Given the description of an element on the screen output the (x, y) to click on. 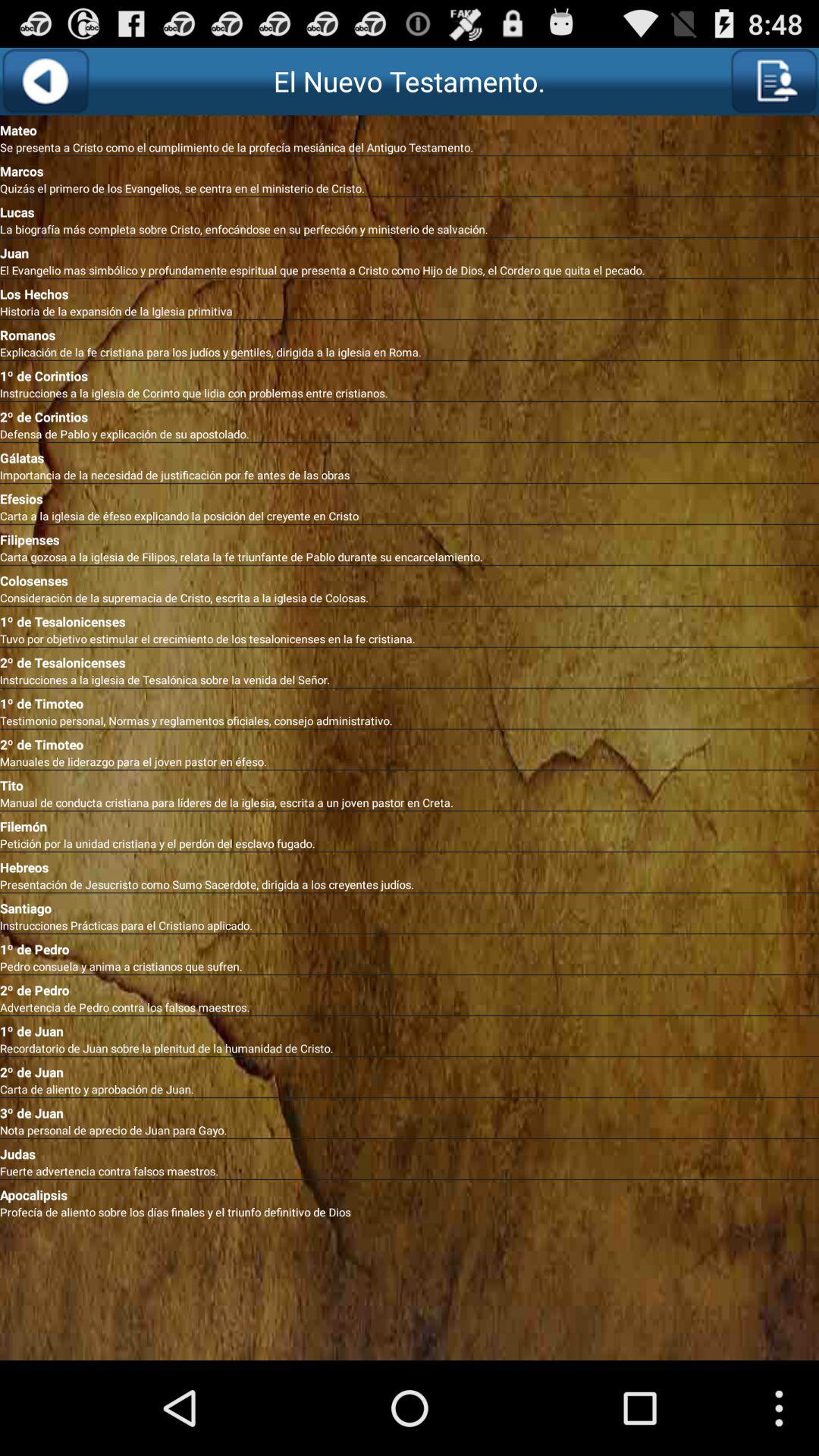
turn on lucas (409, 209)
